Given the description of an element on the screen output the (x, y) to click on. 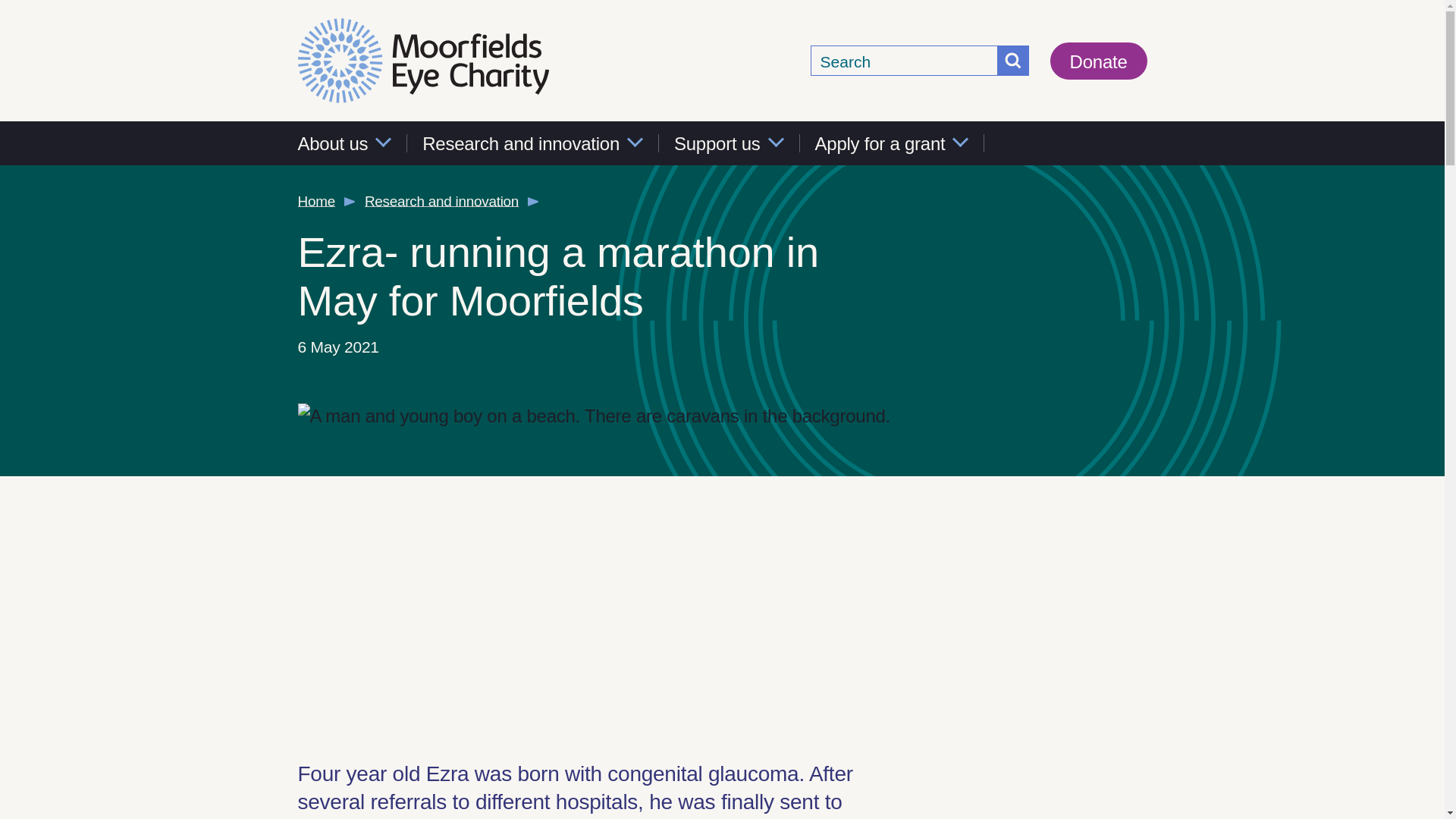
Go (1013, 60)
Go (1013, 60)
Go (1013, 60)
Donate (1098, 60)
